Given the description of an element on the screen output the (x, y) to click on. 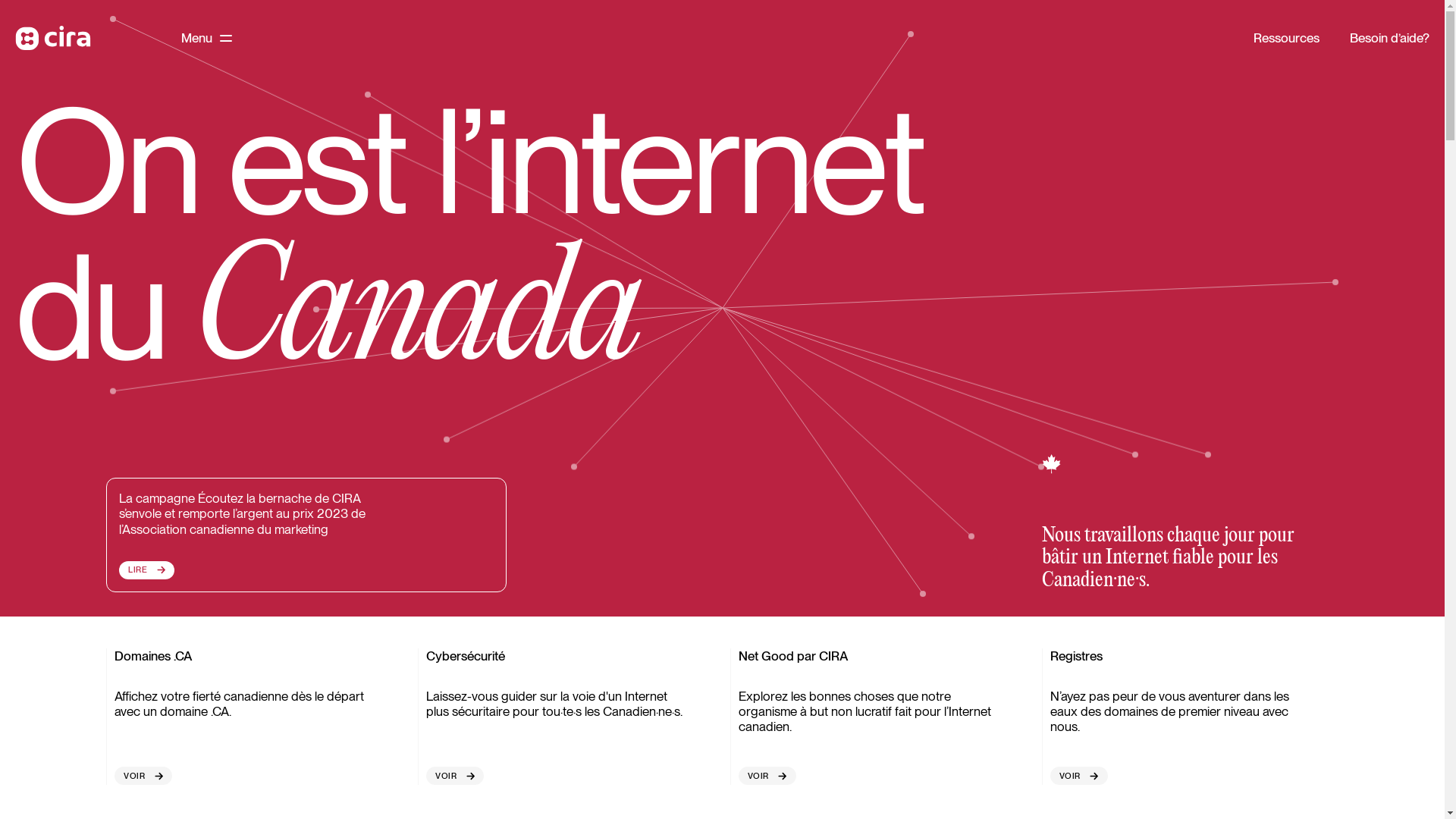
Menu Element type: text (206, 38)
CIRA Canadian Internet Registration Authority Element type: text (53, 37)
Ressources Element type: text (1286, 37)
